Given the description of an element on the screen output the (x, y) to click on. 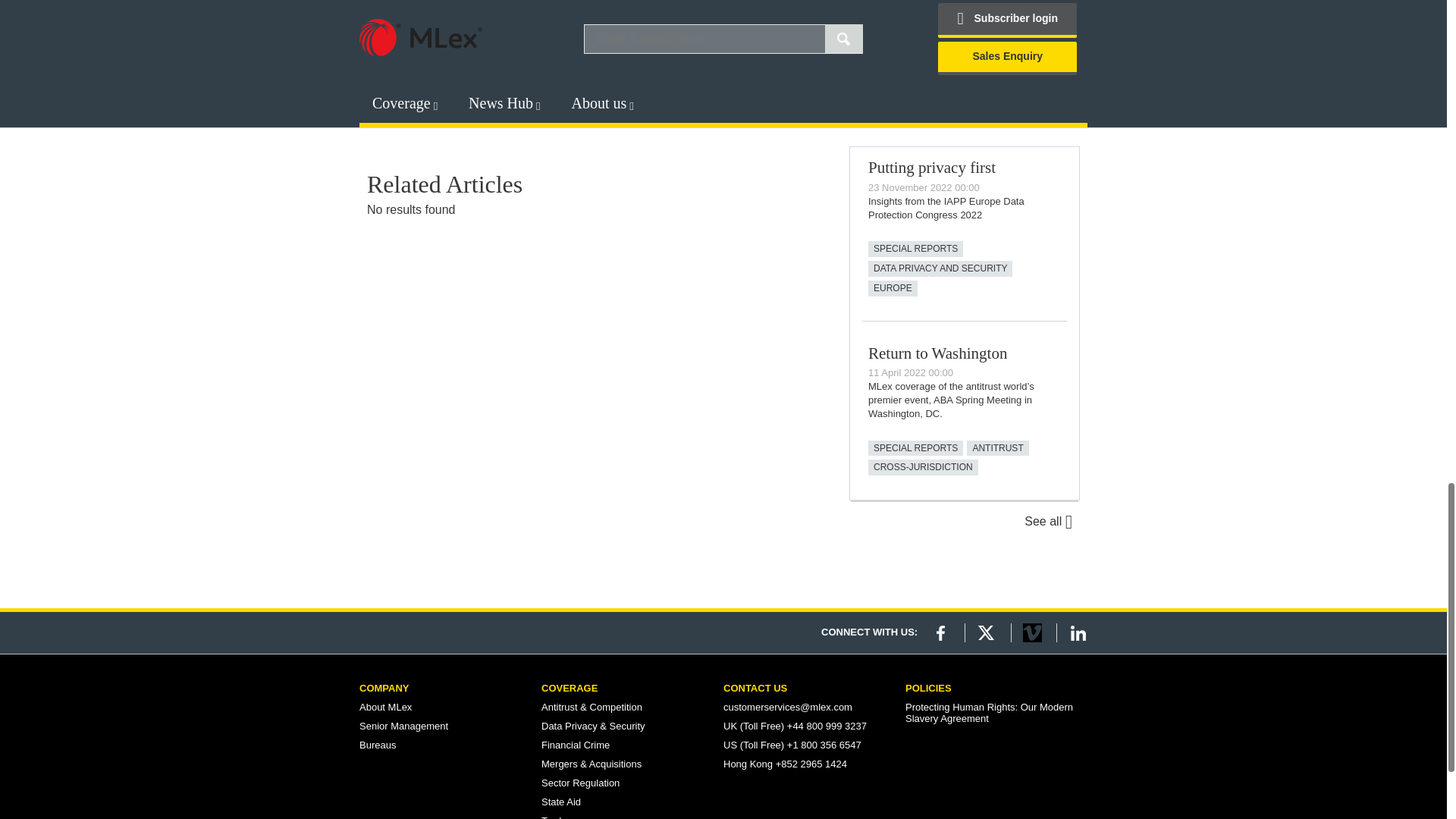
MLex Podcasts (962, 46)
Find us on Facebook (940, 632)
